Given the description of an element on the screen output the (x, y) to click on. 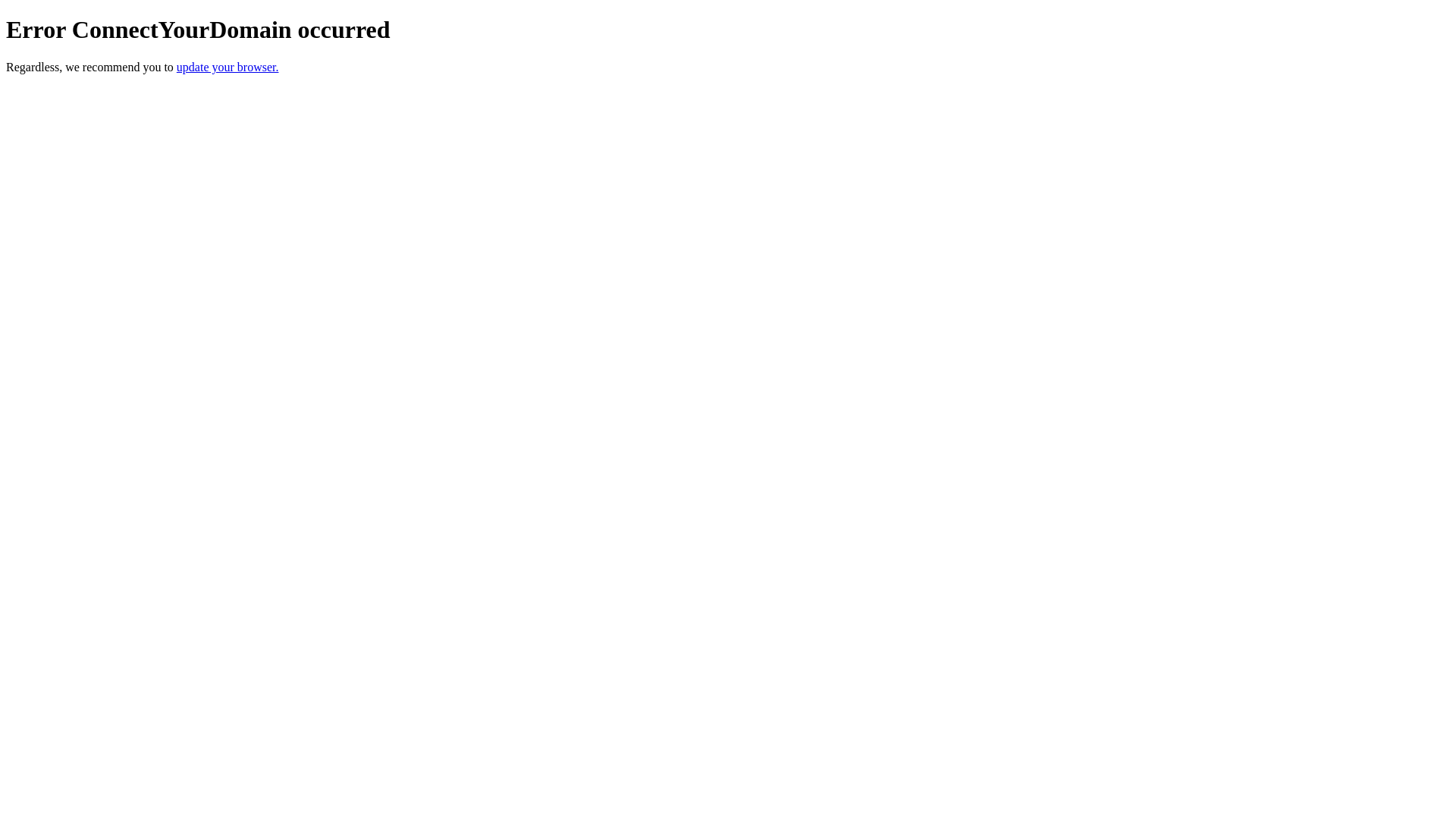
update your browser. Element type: text (227, 66)
